Given the description of an element on the screen output the (x, y) to click on. 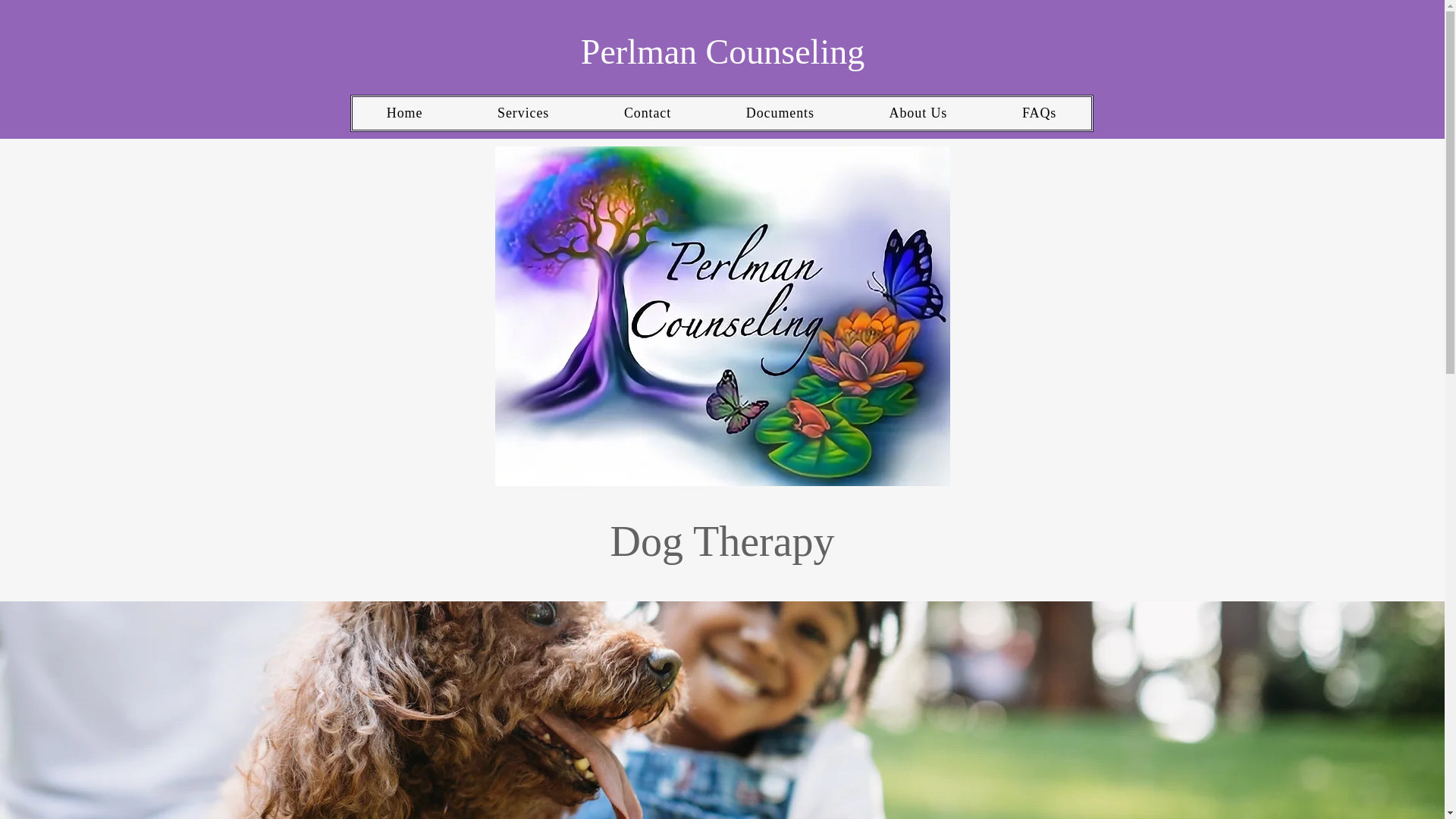
Documents (779, 113)
About Us (917, 113)
Home (404, 113)
Contact (647, 113)
FAQs (1039, 113)
Services (523, 113)
